Given the description of an element on the screen output the (x, y) to click on. 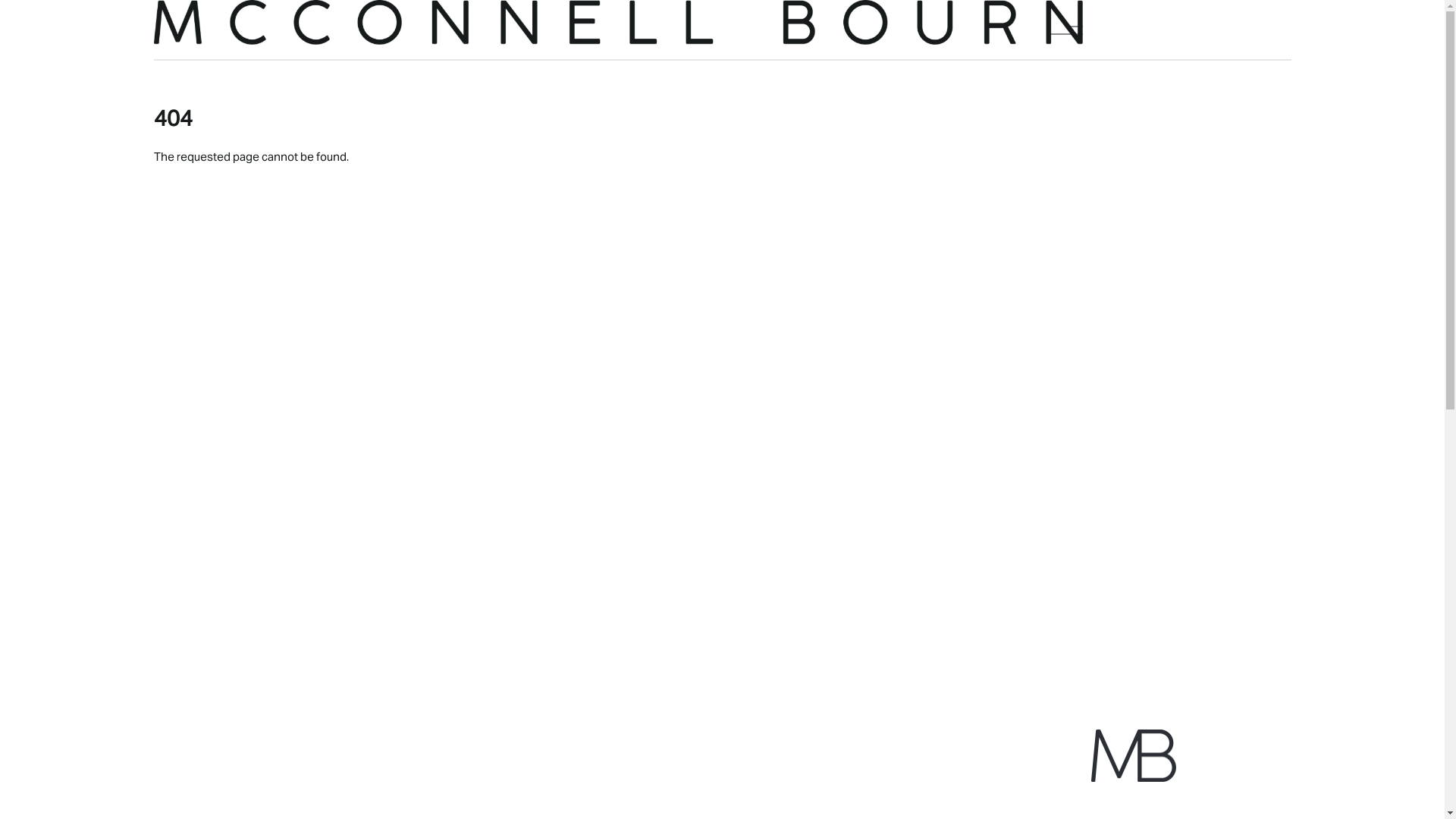
Open Main Menu Element type: hover (1066, 29)
